Given the description of an element on the screen output the (x, y) to click on. 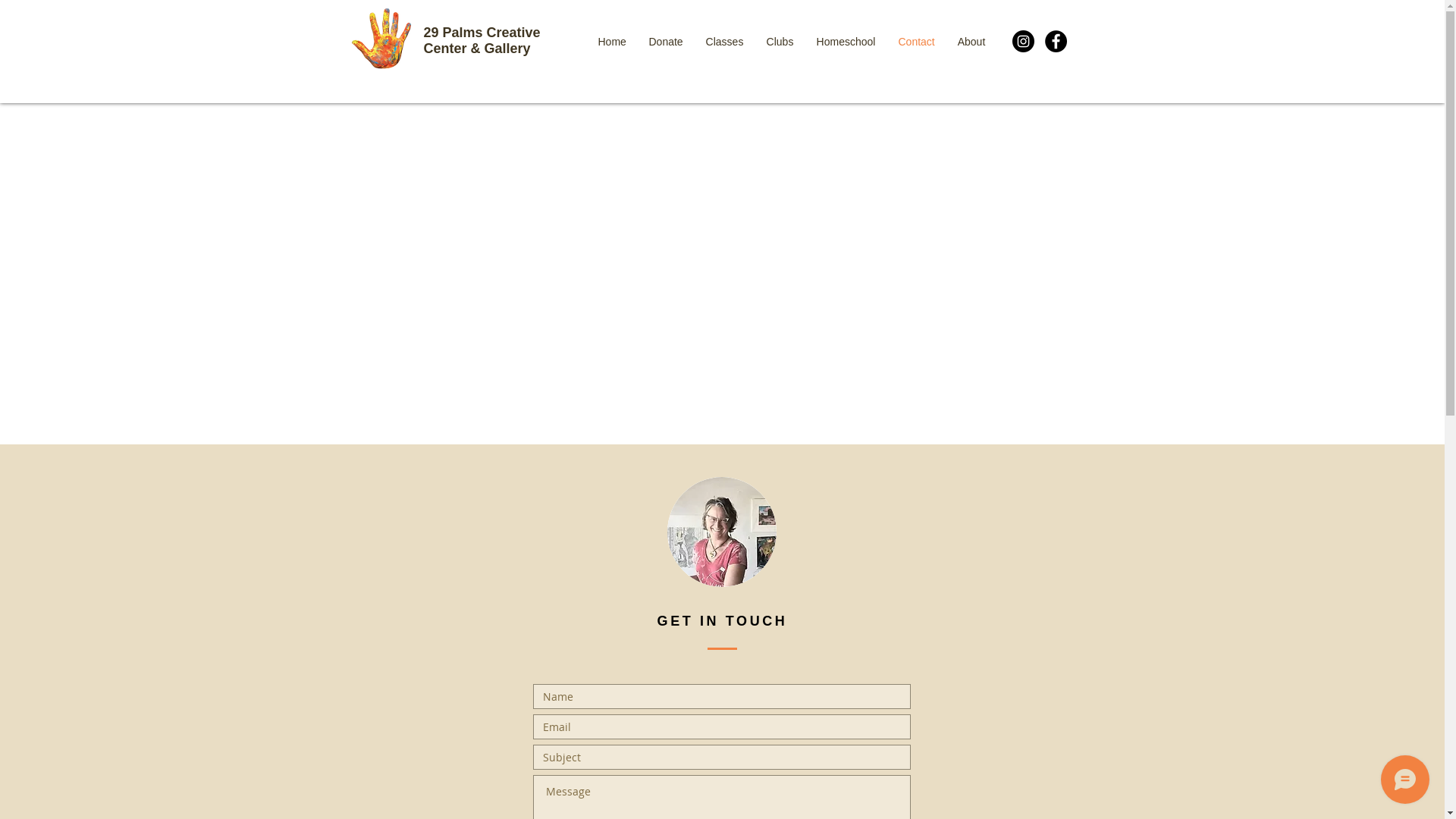
Home Element type: text (611, 41)
29 Palms Creative Center & Gallery Element type: text (481, 40)
Homeschool Element type: text (846, 41)
Donate Element type: text (665, 41)
Google Maps Element type: hover (722, 273)
Classes Element type: text (724, 41)
Contact Element type: text (916, 41)
Clubs Element type: text (780, 41)
